Given the description of an element on the screen output the (x, y) to click on. 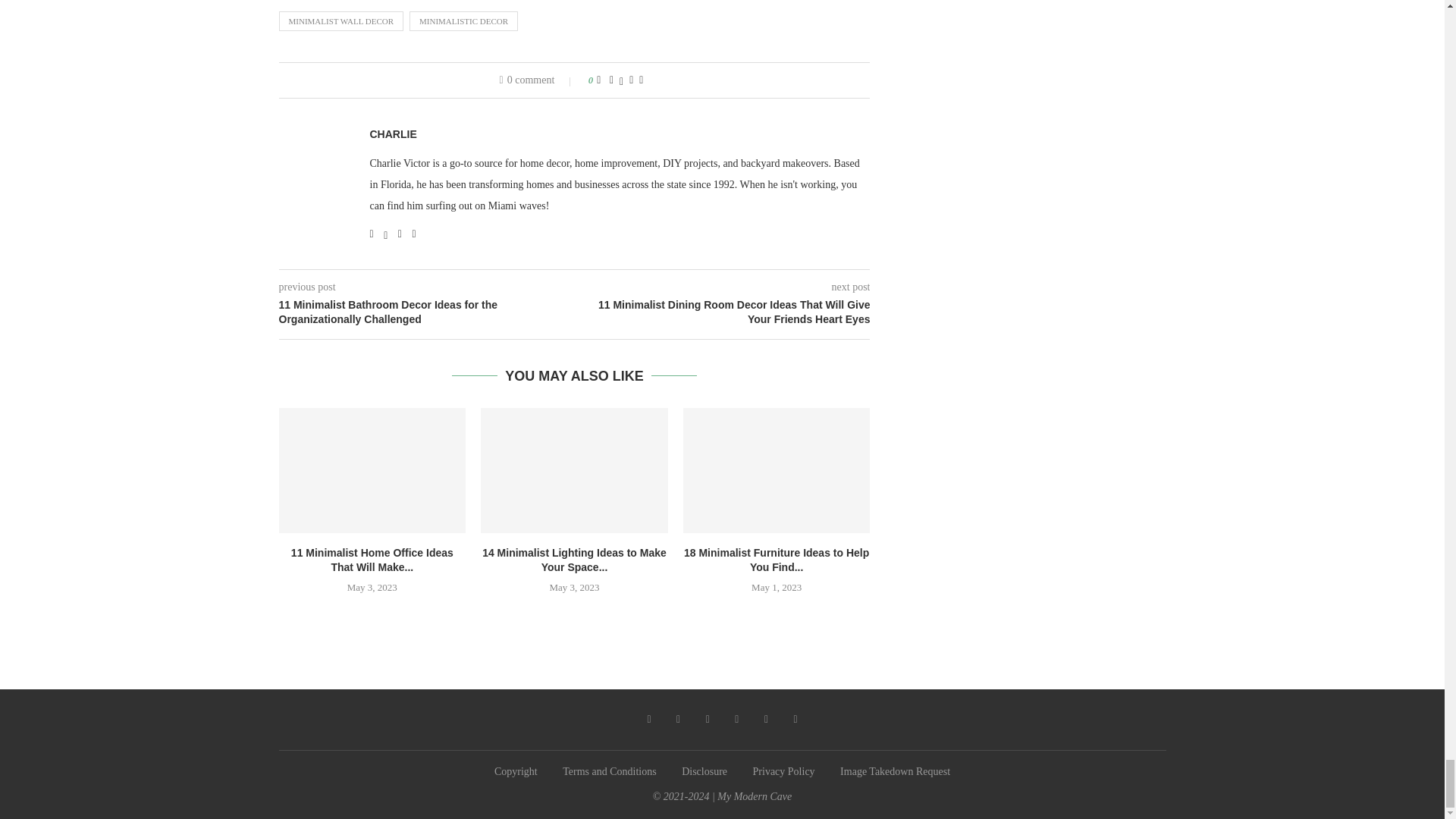
Author Charlie (392, 134)
